Given the description of an element on the screen output the (x, y) to click on. 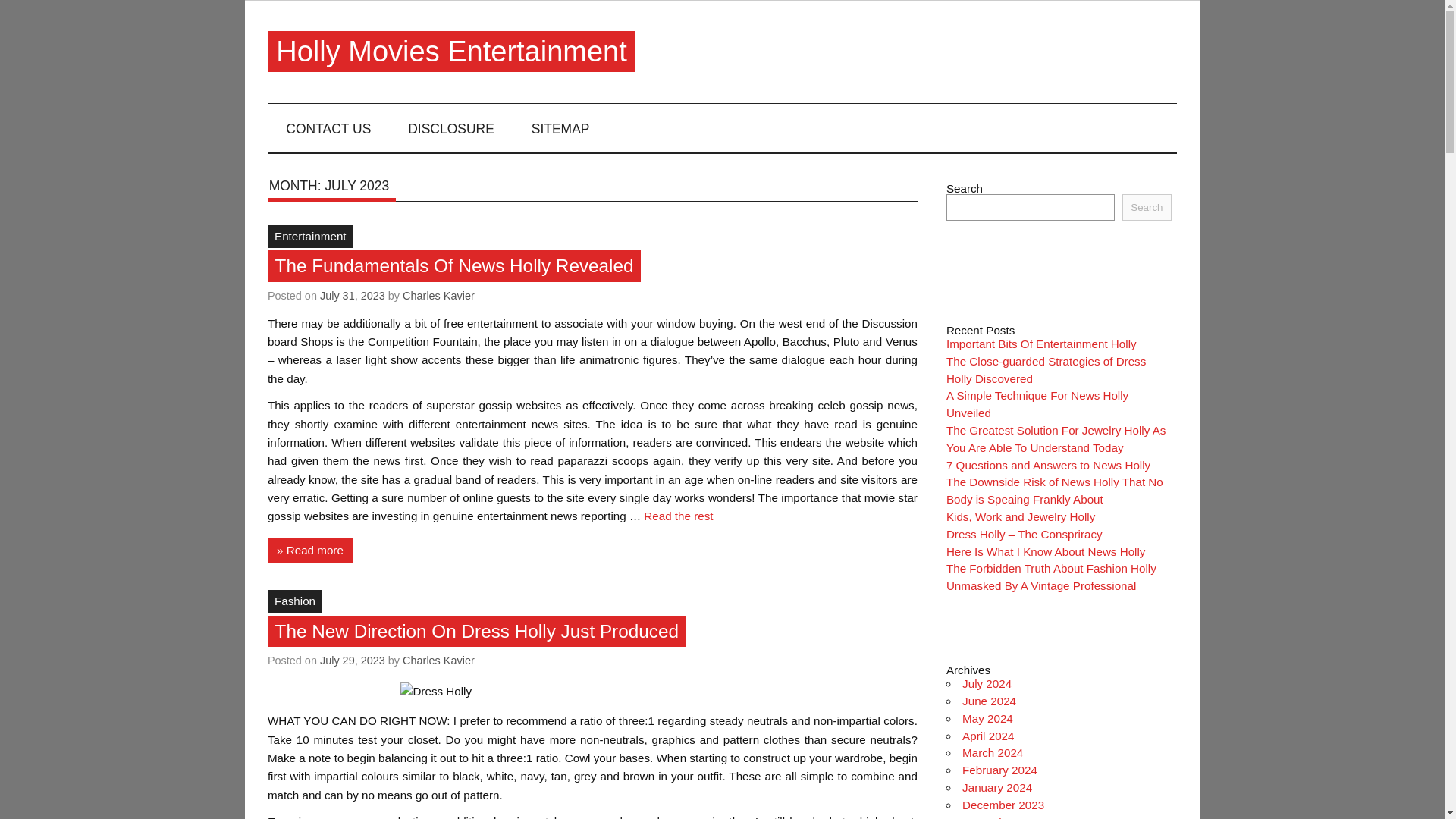
The New Direction On Dress Holly Just Produced (476, 630)
SITEMAP (560, 128)
Fashion (294, 600)
Charles Kavier (438, 295)
10:29 am (352, 295)
The Fundamentals Of News Holly Revealed (454, 266)
View all posts by Charles Kavier (438, 660)
CONTACT US (328, 128)
DISCLOSURE (451, 128)
View all posts by Charles Kavier (438, 295)
11:37 am (352, 660)
Entertainment (310, 236)
July 31, 2023 (352, 295)
Read the rest (678, 515)
Charles Kavier (438, 660)
